Given the description of an element on the screen output the (x, y) to click on. 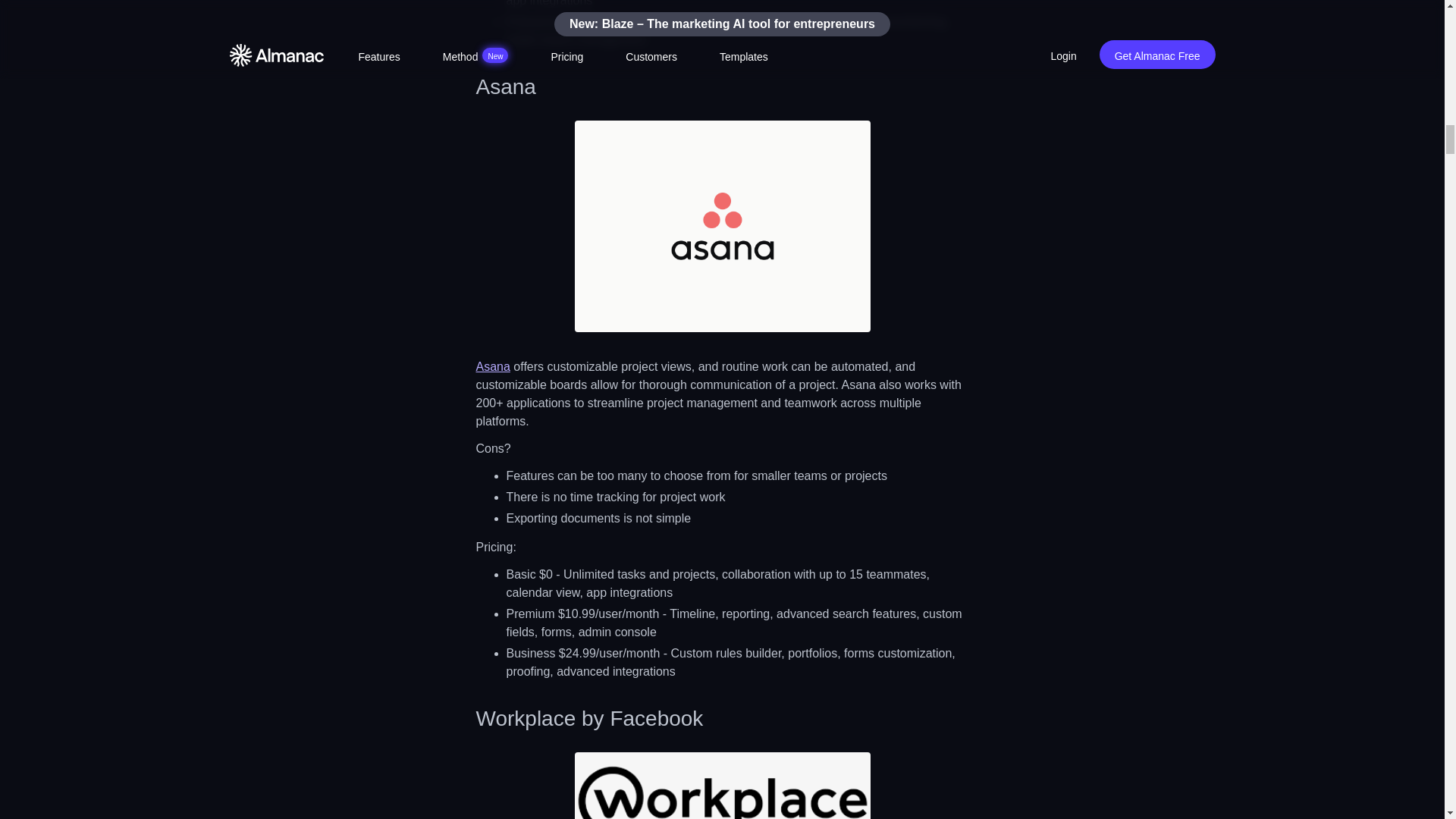
Asana (493, 366)
